Given the description of an element on the screen output the (x, y) to click on. 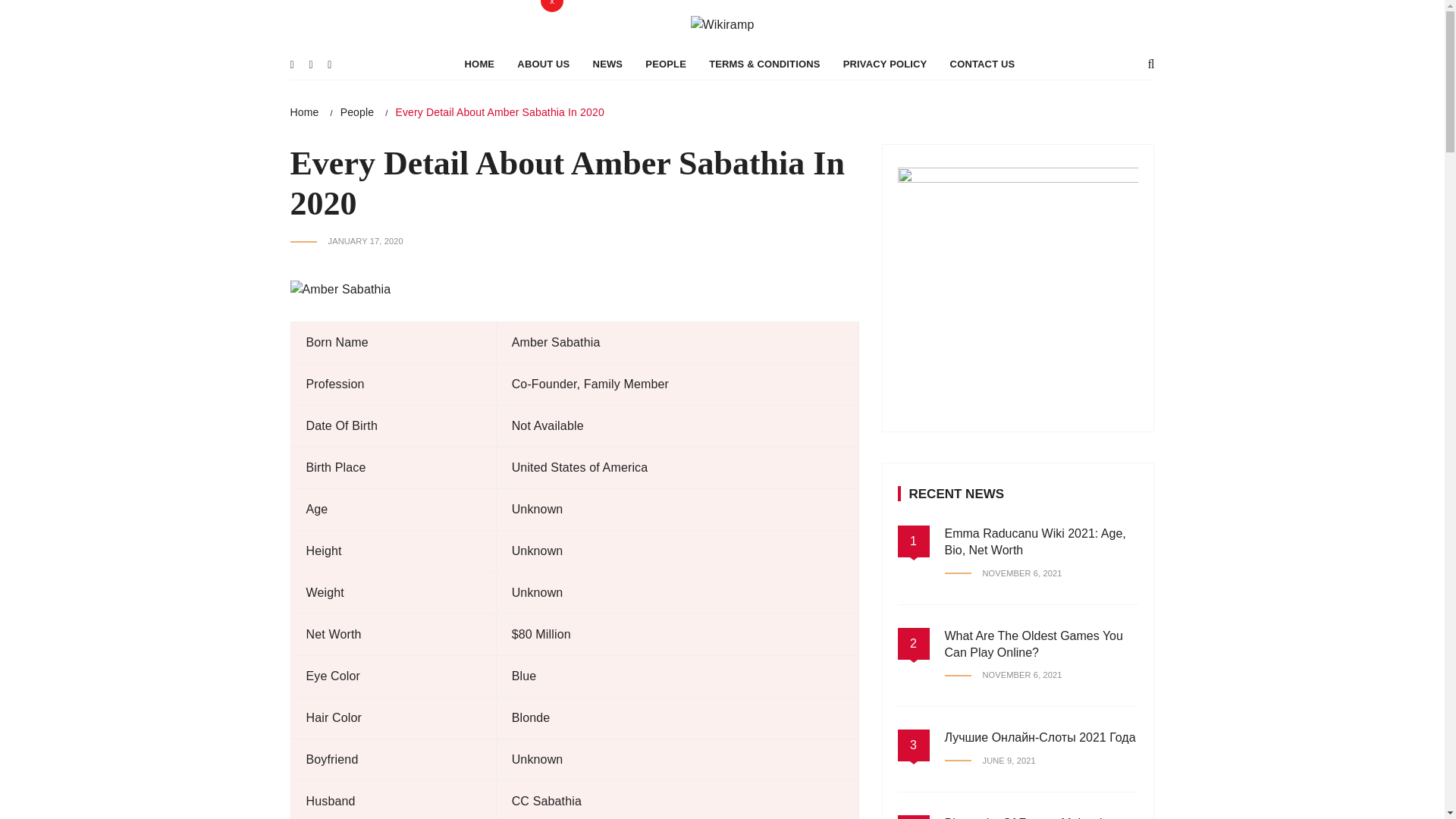
ABOUT US (542, 64)
PEOPLE (665, 64)
People (357, 111)
Search (420, 15)
HOME (479, 64)
NEWS (607, 64)
Emma Raducanu Wiki 2021: Age, Bio, Net Worth (1034, 541)
JANUARY 17, 2020 (346, 241)
What Are The Oldest Games You Can Play Online? (1033, 644)
JUNE 9, 2021 (989, 760)
PRIVACY POLICY (885, 64)
CONTACT US (982, 64)
NOVEMBER 6, 2021 (1003, 573)
Home (303, 111)
